Given the description of an element on the screen output the (x, y) to click on. 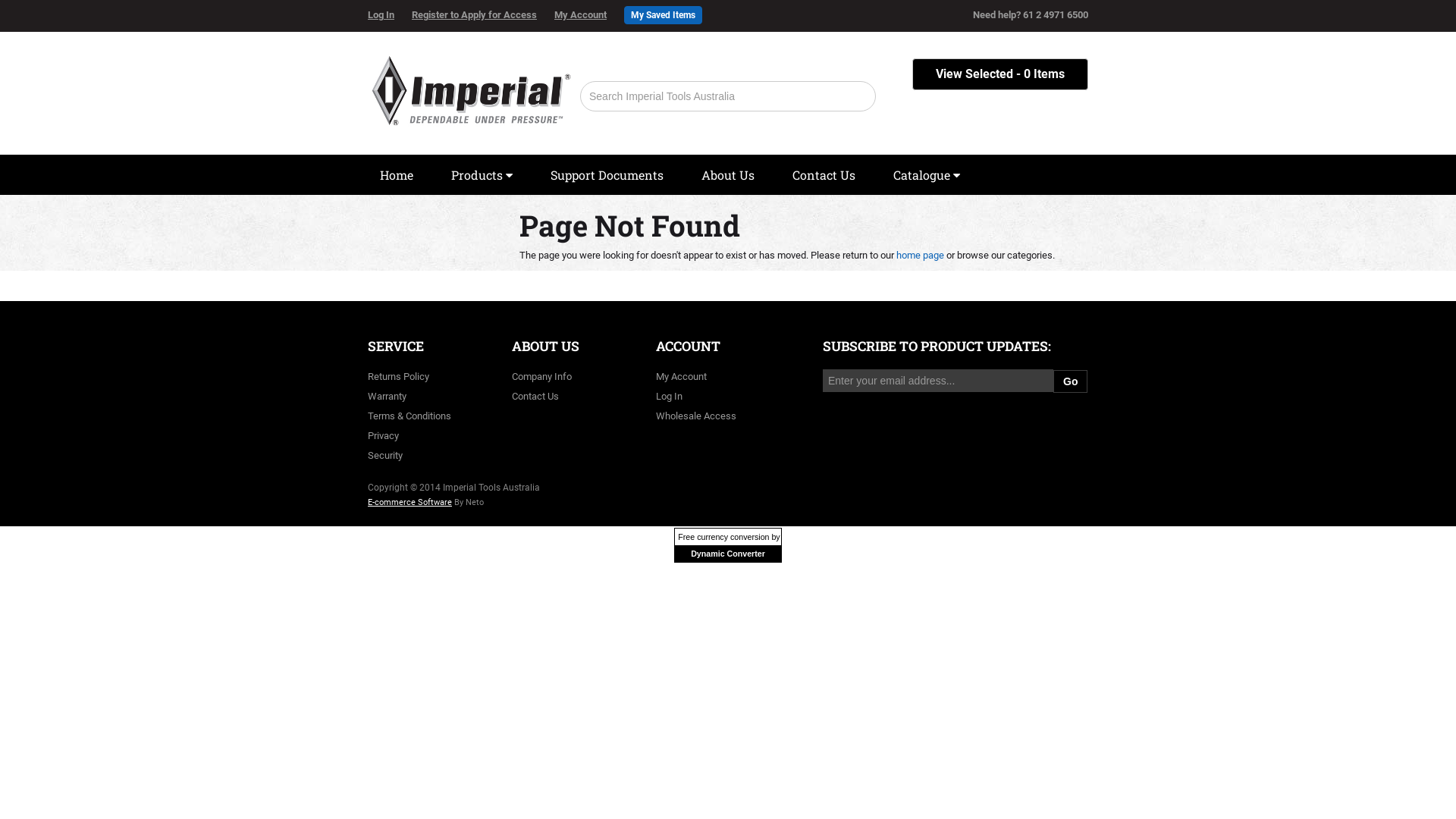
Security Element type: text (384, 455)
My Account Element type: text (587, 14)
My Account Element type: text (680, 376)
Privacy Element type: text (382, 435)
Log In Element type: text (388, 14)
About Us Element type: text (727, 174)
Contact Us Element type: text (534, 395)
 Free currency conversion by
 Dynamic Converter  Element type: text (727, 544)
Wholesale Access Element type: text (695, 415)
Go Element type: text (1070, 381)
Products Element type: text (481, 174)
Warranty Element type: text (386, 395)
Support Documents Element type: text (606, 174)
Home Element type: text (396, 174)
Catalogue Element type: text (926, 174)
View Selected - 0 Items Element type: text (1000, 74)
home page Element type: text (920, 254)
Contact Us Element type: text (823, 174)
My Saved Items Element type: text (663, 15)
Search Element type: text (857, 95)
E-commerce Software Element type: text (409, 502)
Imperial Tools Australasia Element type: hover (469, 85)
Register to Apply for Access Element type: text (481, 14)
Company Info Element type: text (541, 376)
Terms & Conditions Element type: text (409, 415)
Log In Element type: text (668, 395)
Returns Policy Element type: text (398, 376)
